Given the description of an element on the screen output the (x, y) to click on. 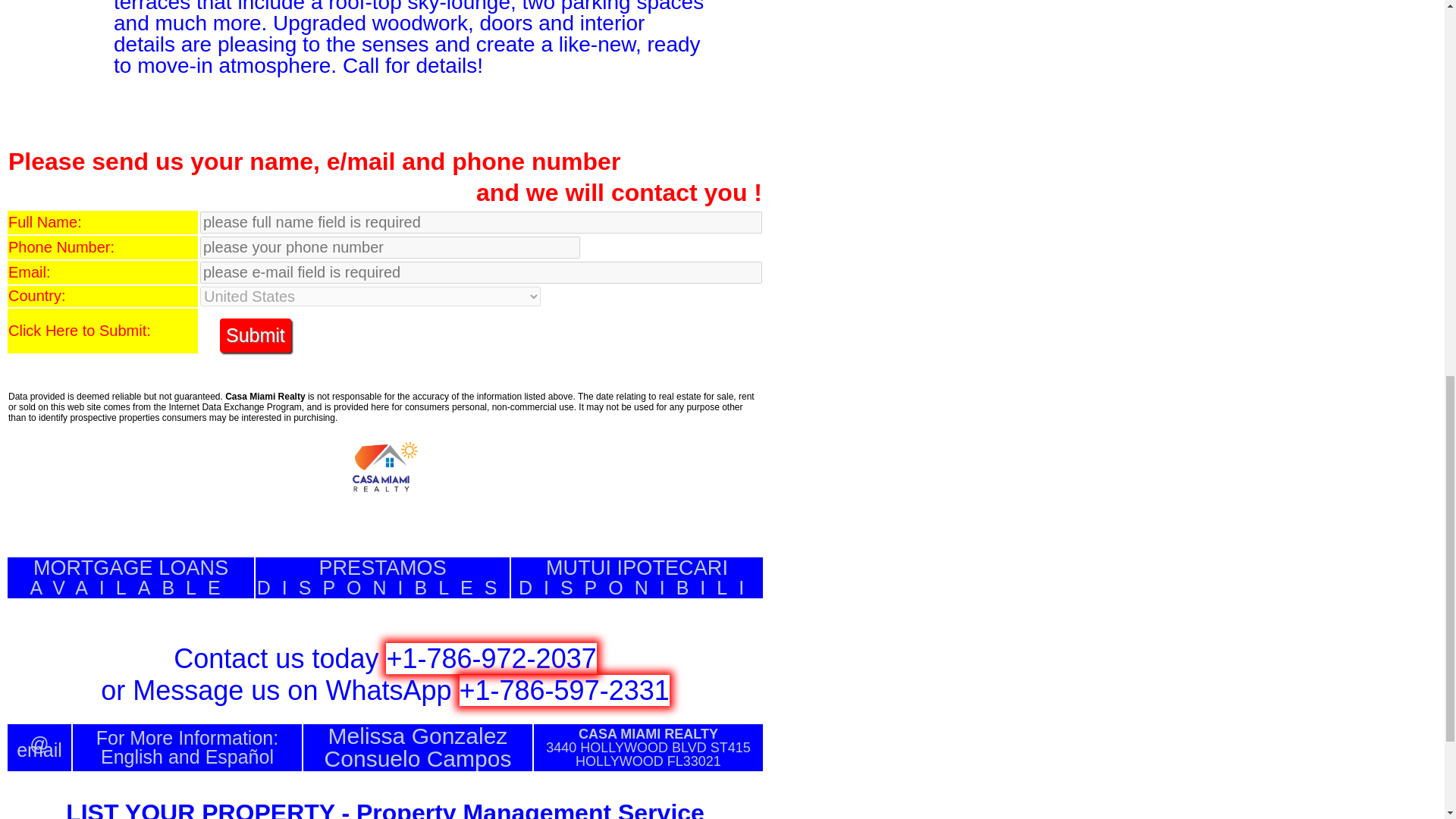
Submit (255, 335)
Spanish (636, 577)
Submit (382, 577)
